Given the description of an element on the screen output the (x, y) to click on. 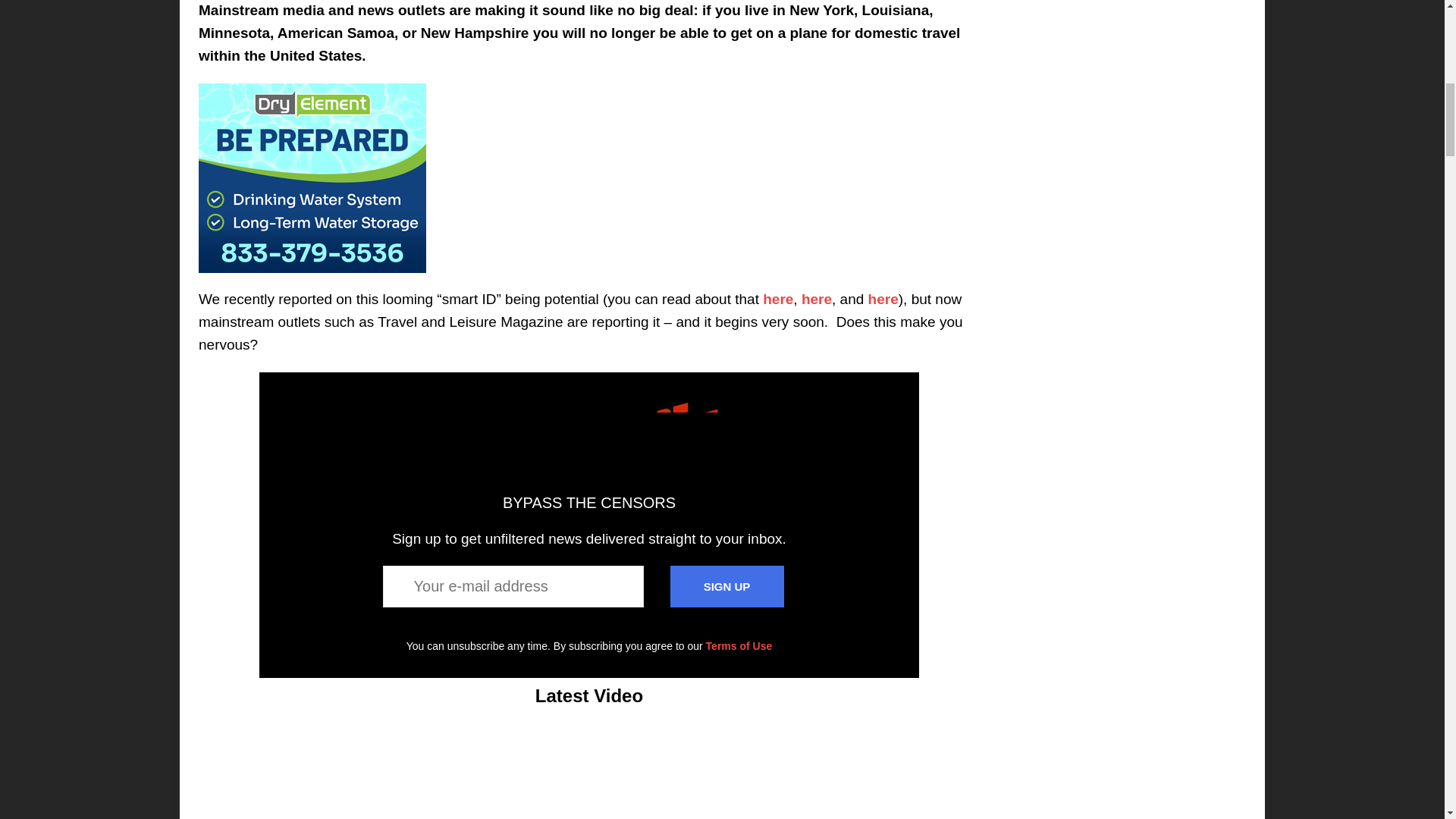
SIGN UP (726, 586)
